Given the description of an element on the screen output the (x, y) to click on. 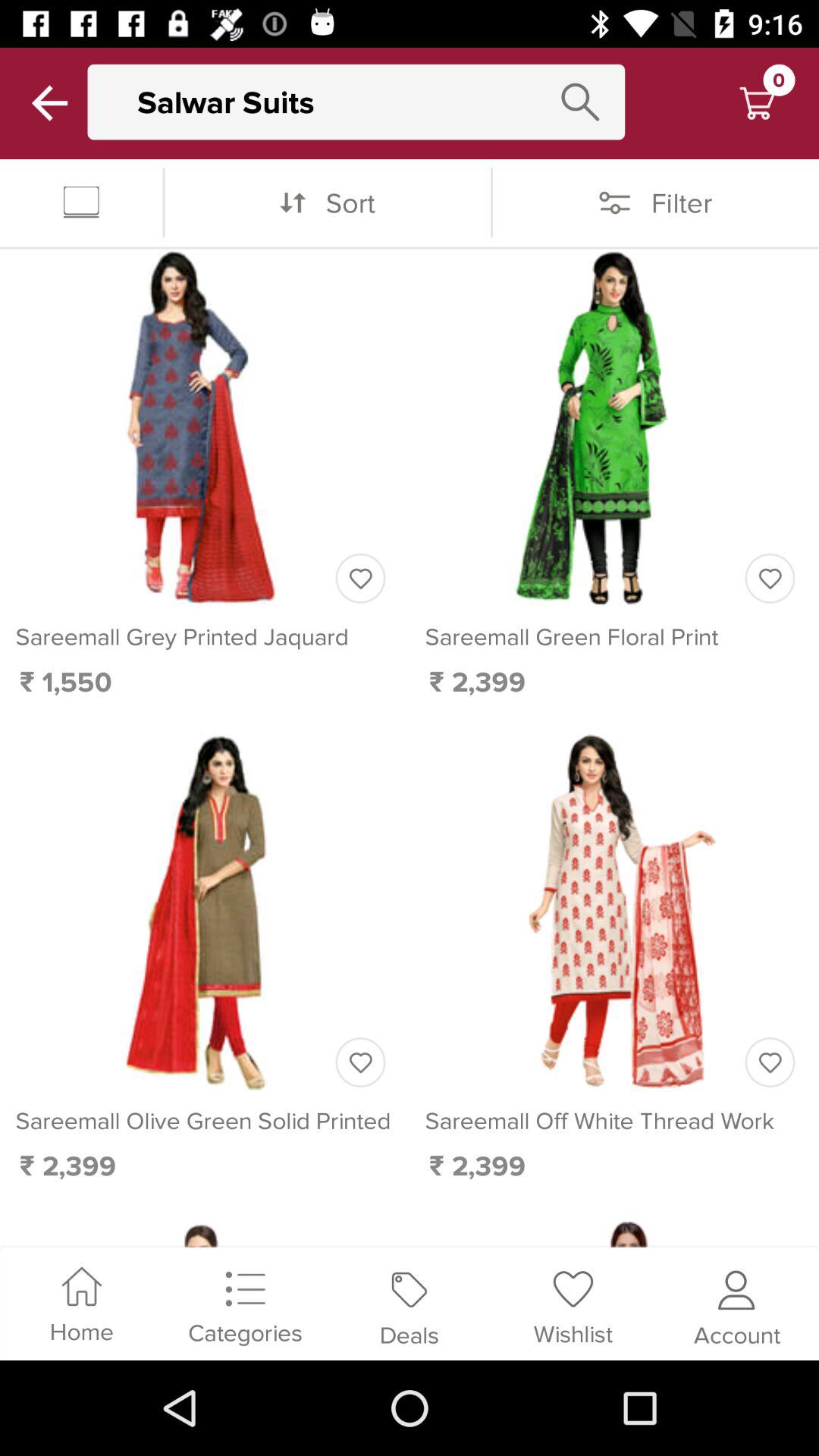
love outfit (770, 578)
